Given the description of an element on the screen output the (x, y) to click on. 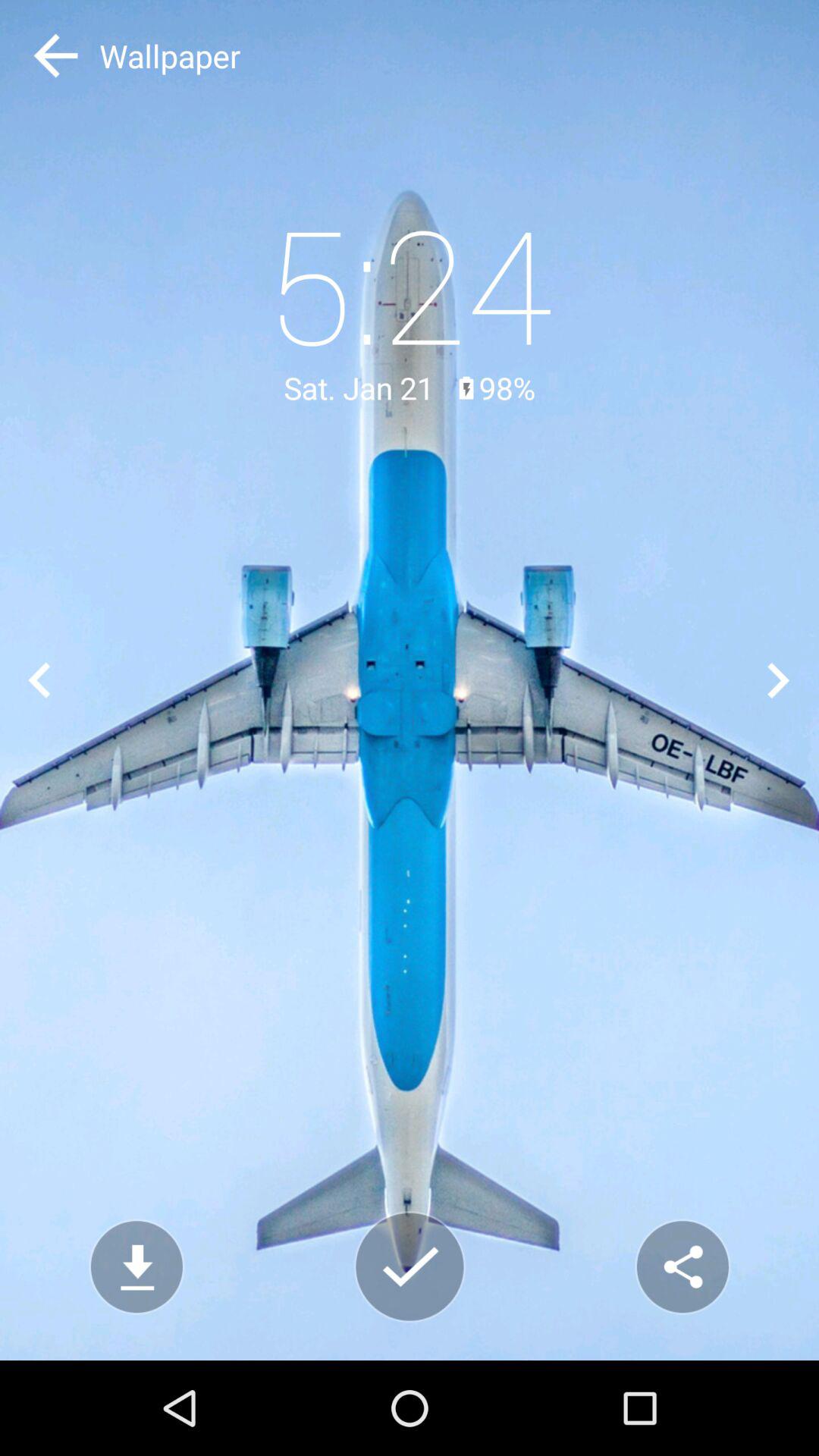
apply wallpaper (409, 1266)
